Given the description of an element on the screen output the (x, y) to click on. 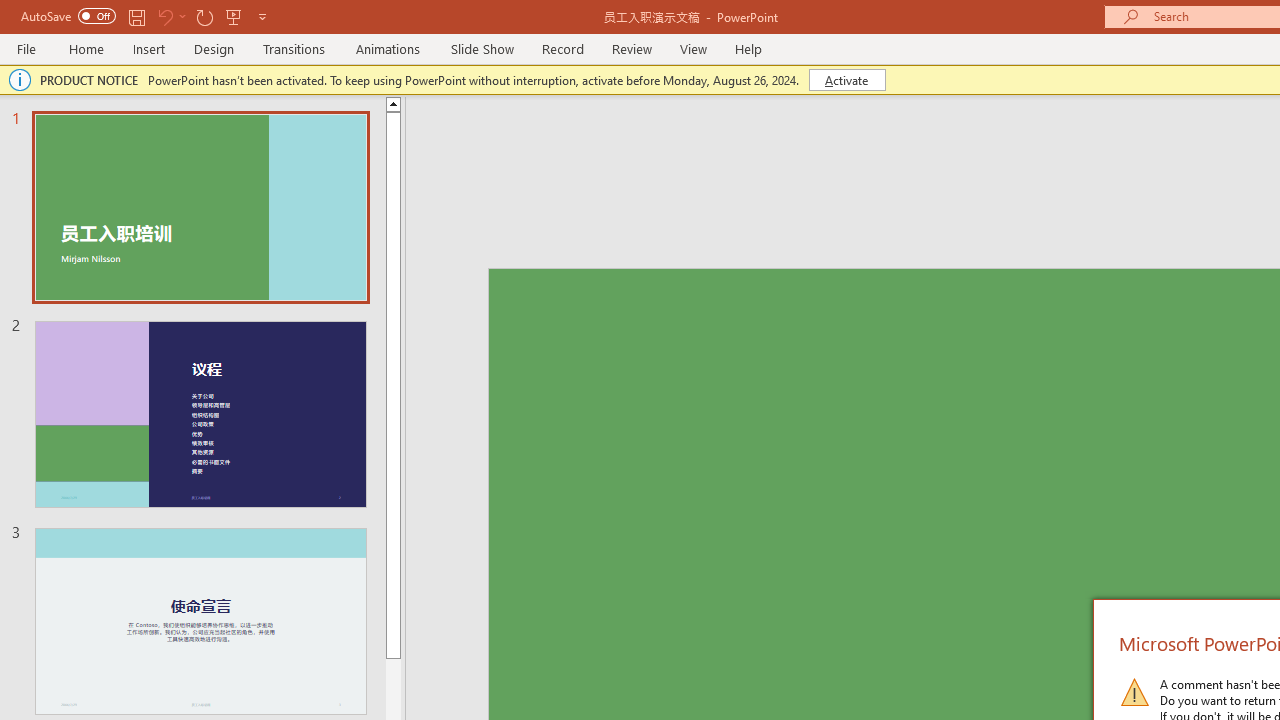
Activate (846, 79)
